Given the description of an element on the screen output the (x, y) to click on. 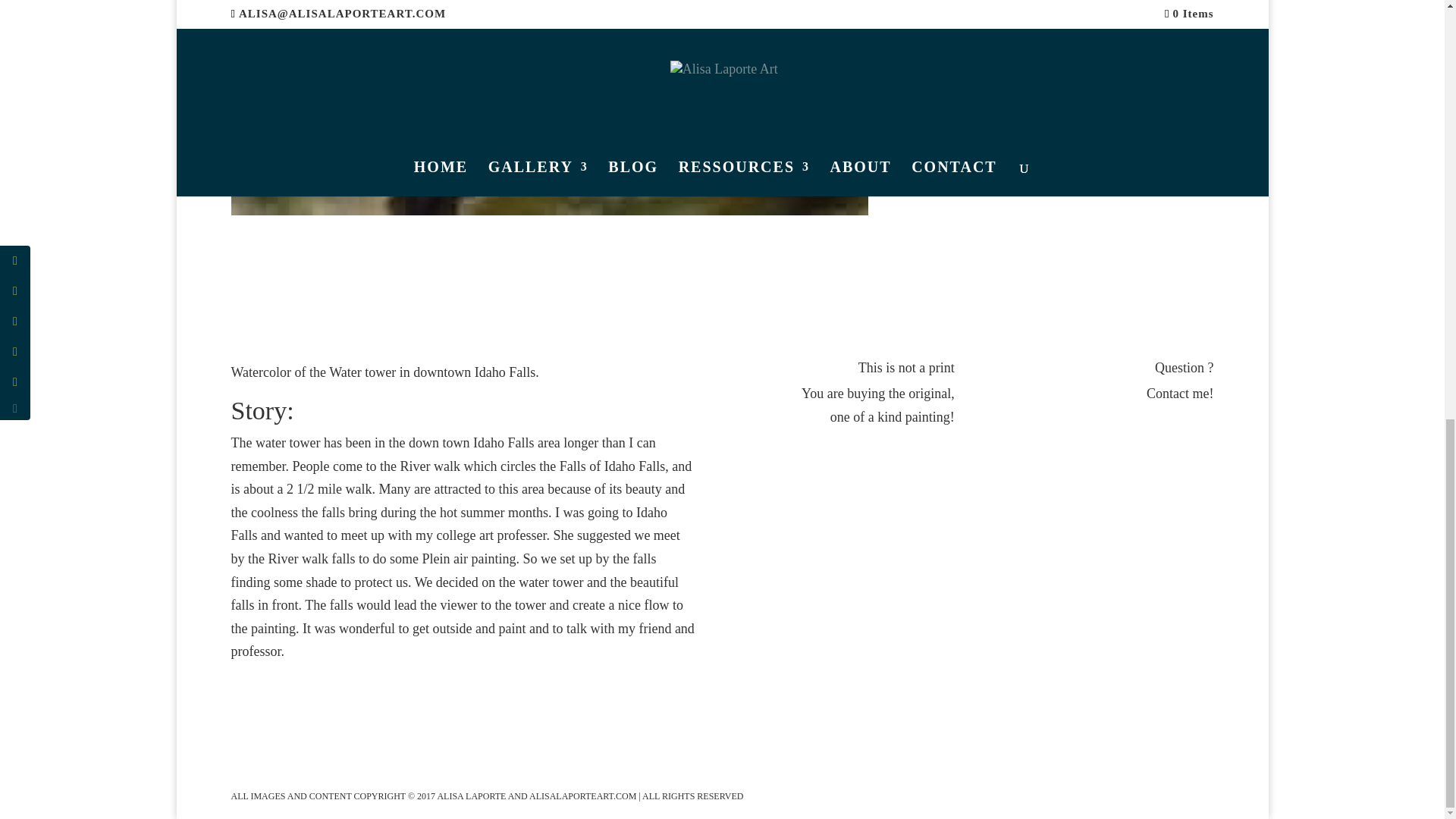
Question ? (1183, 367)
ALISALAPORTEART.COM (584, 796)
